Given the description of an element on the screen output the (x, y) to click on. 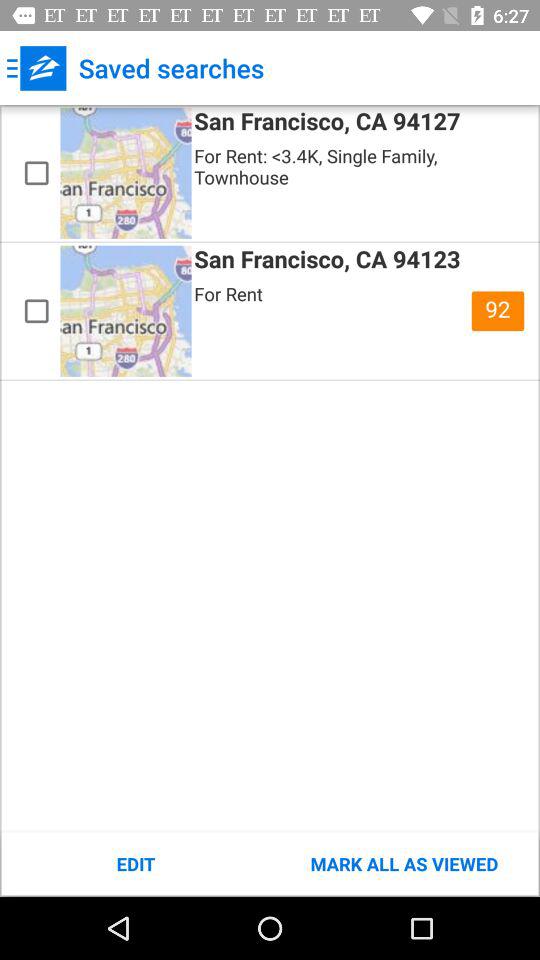
press app to the left of the saved searches (36, 68)
